Given the description of an element on the screen output the (x, y) to click on. 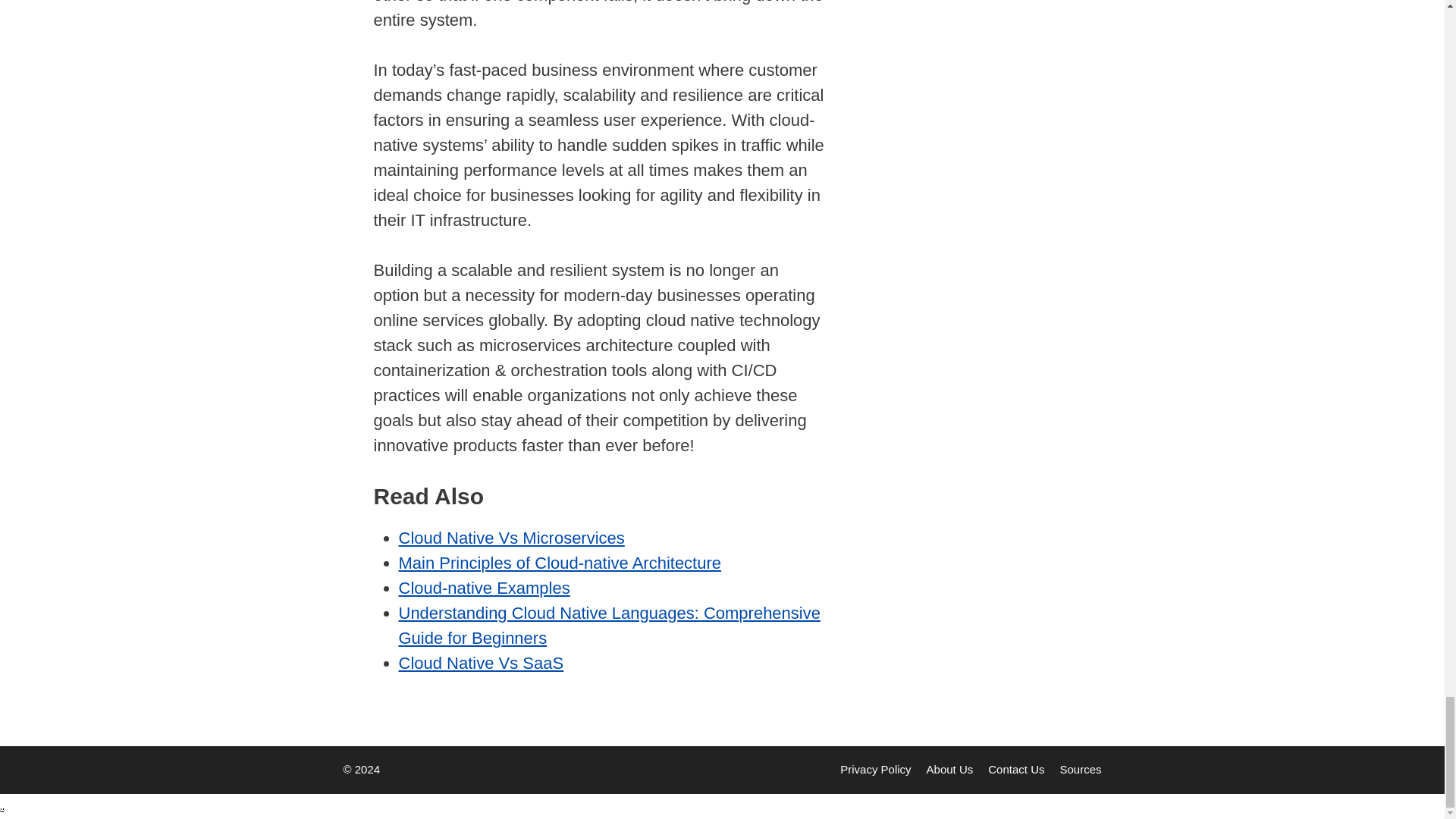
Main Principles of Cloud-native Architecture (560, 562)
Privacy Policy (875, 768)
About Us (950, 768)
Main Principles of Cloud-native Architecture (560, 562)
Cloud Native Vs SaaS (481, 662)
Cloud Native Vs SaaS (481, 662)
Cloud-native Examples (484, 587)
Contact Us (1015, 768)
Cloud Native Vs Microservices (511, 537)
Cloud Native Vs Microservices (511, 537)
Cloud-native Examples (484, 587)
Sources (1079, 768)
